Given the description of an element on the screen output the (x, y) to click on. 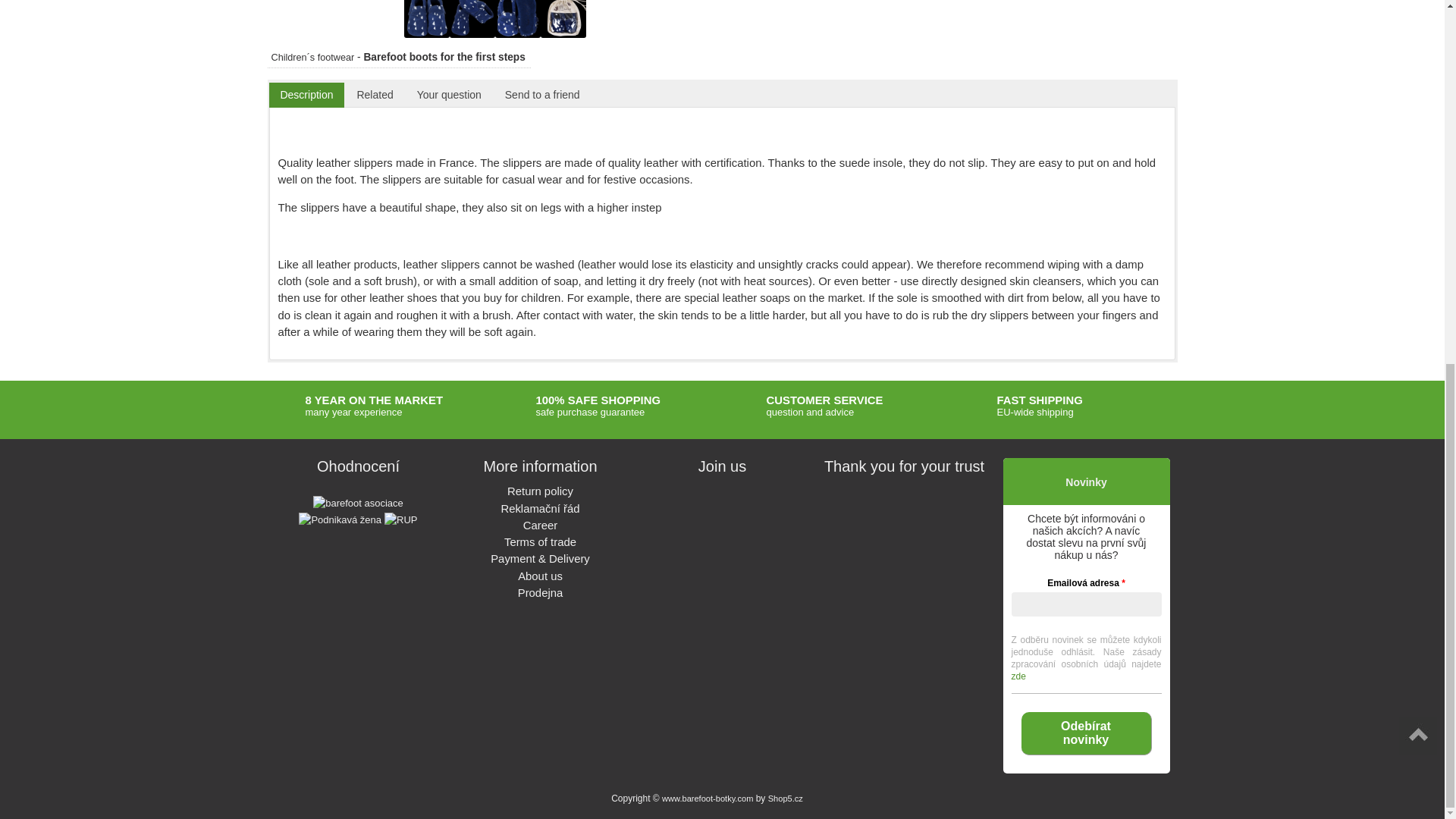
Your question (449, 94)
Barefoot Lait et Miel blue slippers (517, 18)
Barefoot Lait et Miel blue slippers (425, 18)
Barefoot Lait et Miel blue slippers (562, 18)
Barefoot Lait et Miel blue slippers (471, 18)
Description (306, 94)
Related (374, 94)
Send to a friend (543, 94)
